Given the description of an element on the screen output the (x, y) to click on. 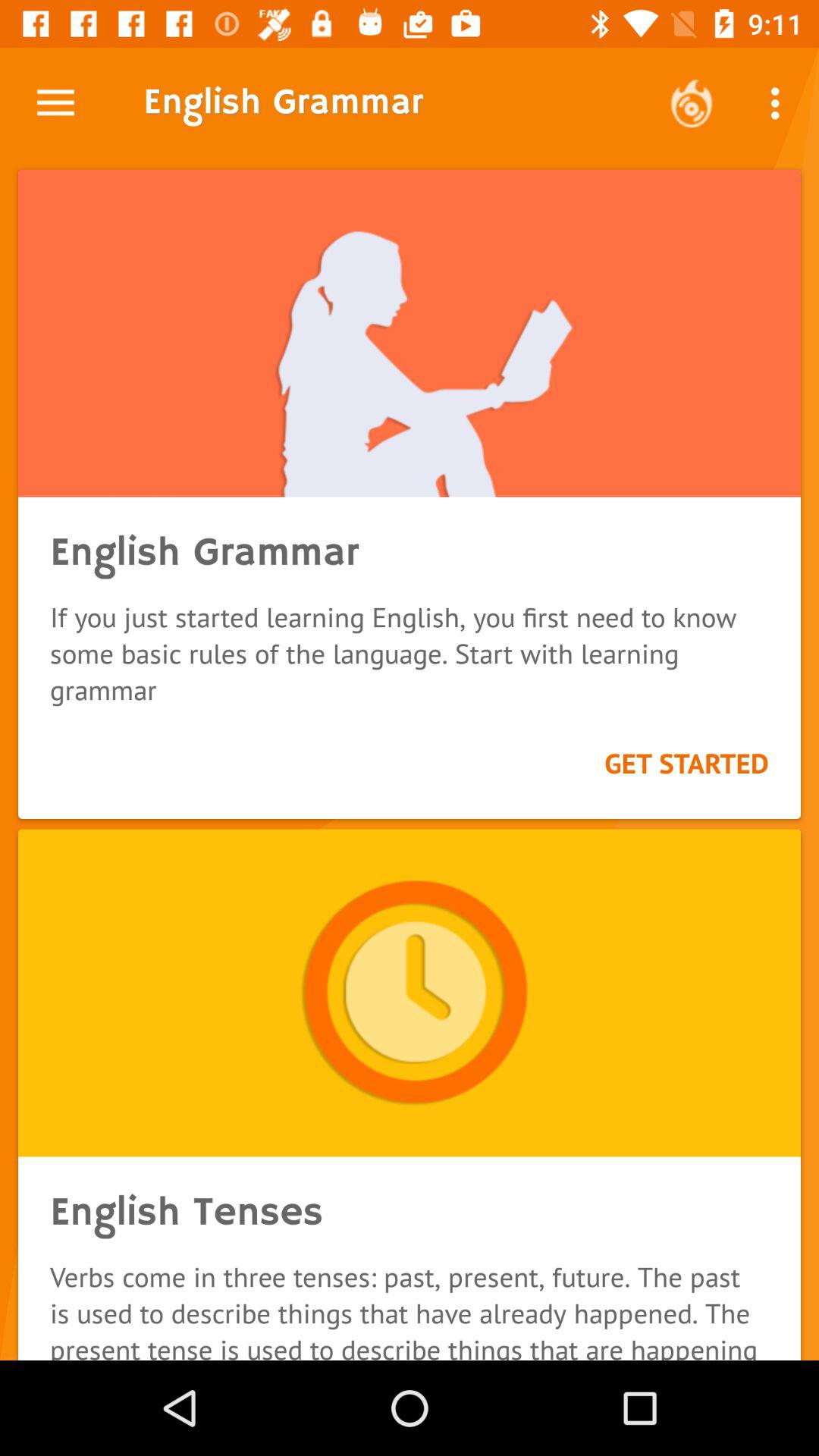
press icon at the top left corner (55, 103)
